Given the description of an element on the screen output the (x, y) to click on. 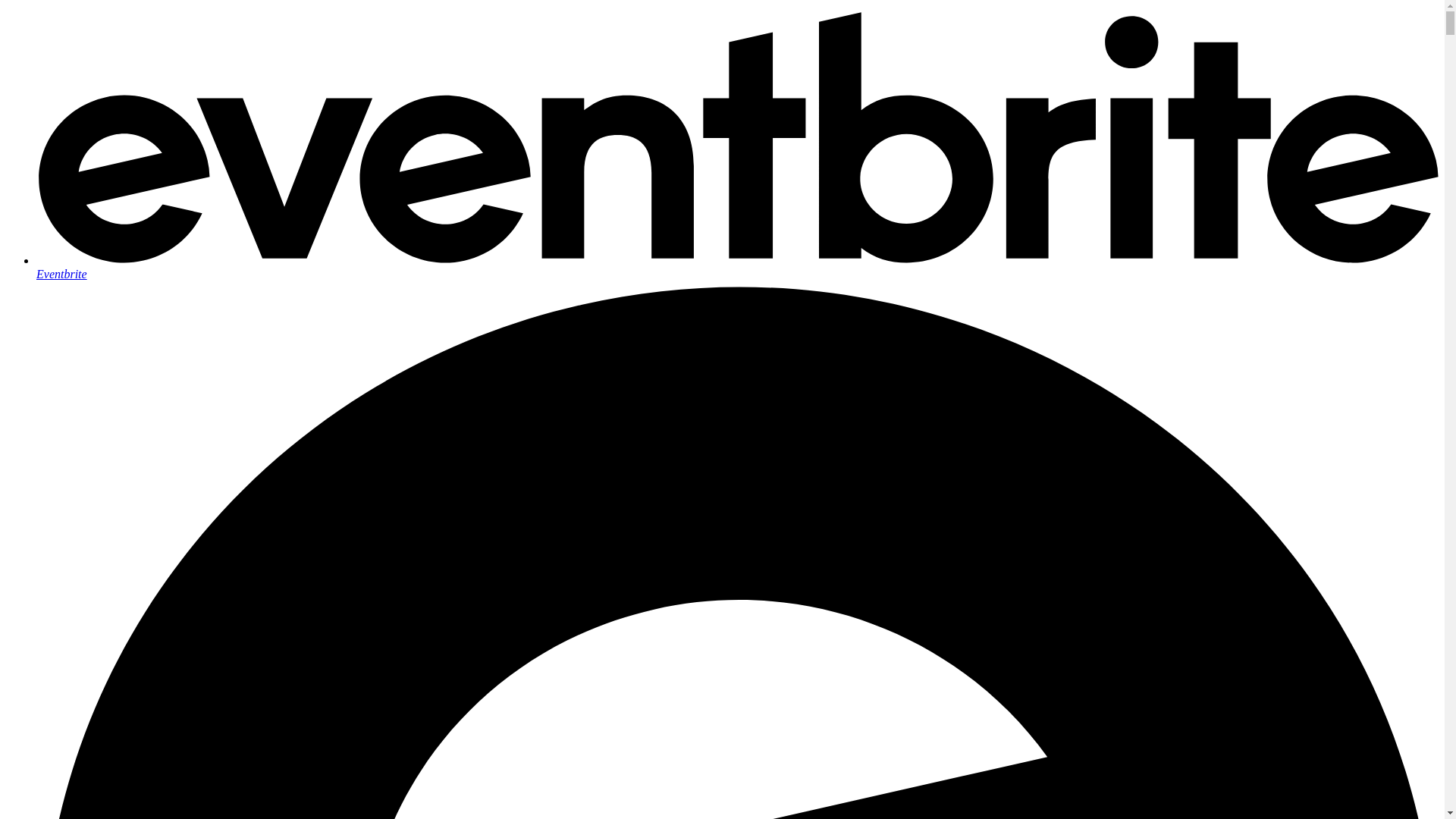
Eventbrite Element type: text (737, 267)
